Given the description of an element on the screen output the (x, y) to click on. 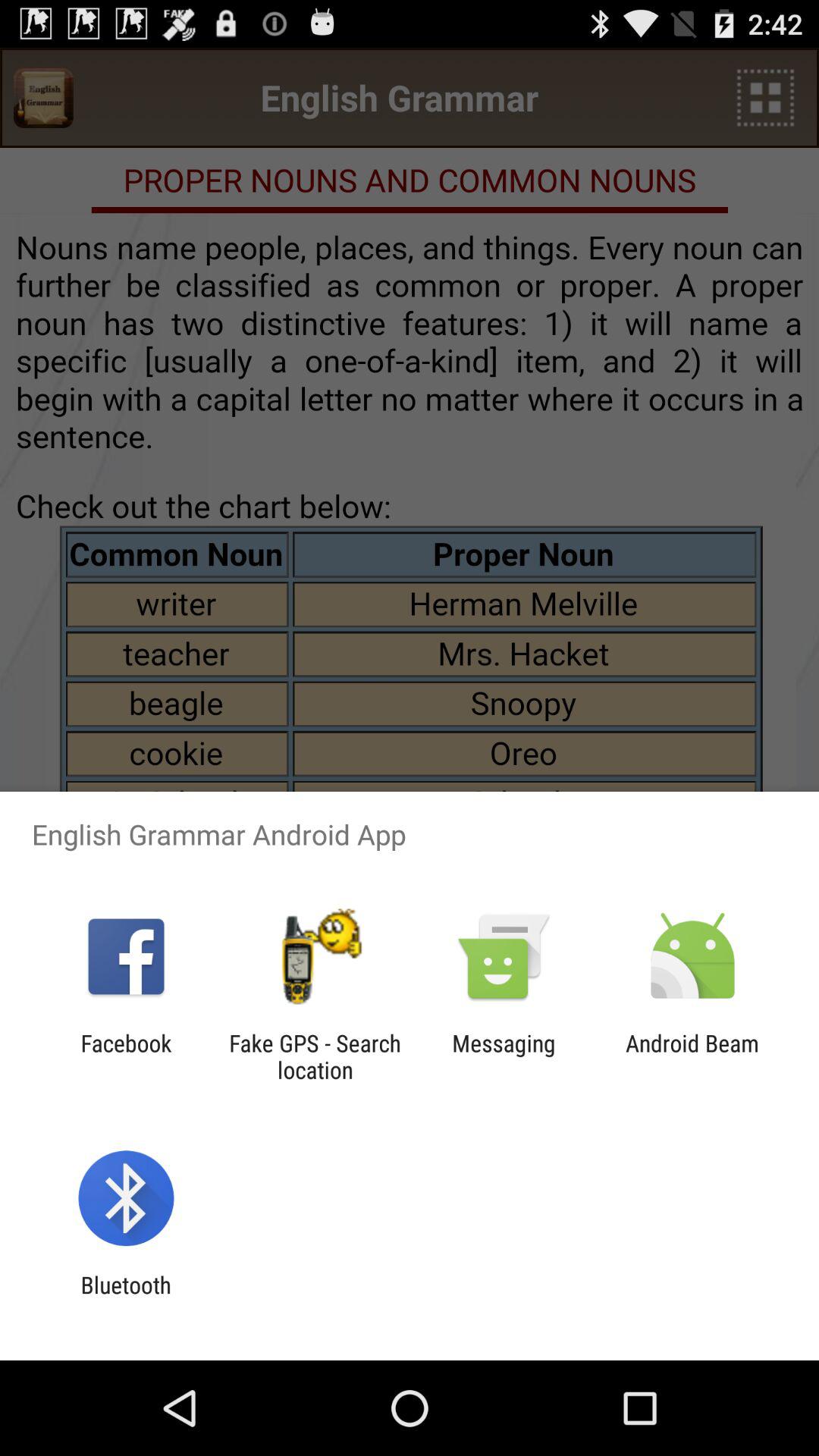
turn on facebook (125, 1056)
